Given the description of an element on the screen output the (x, y) to click on. 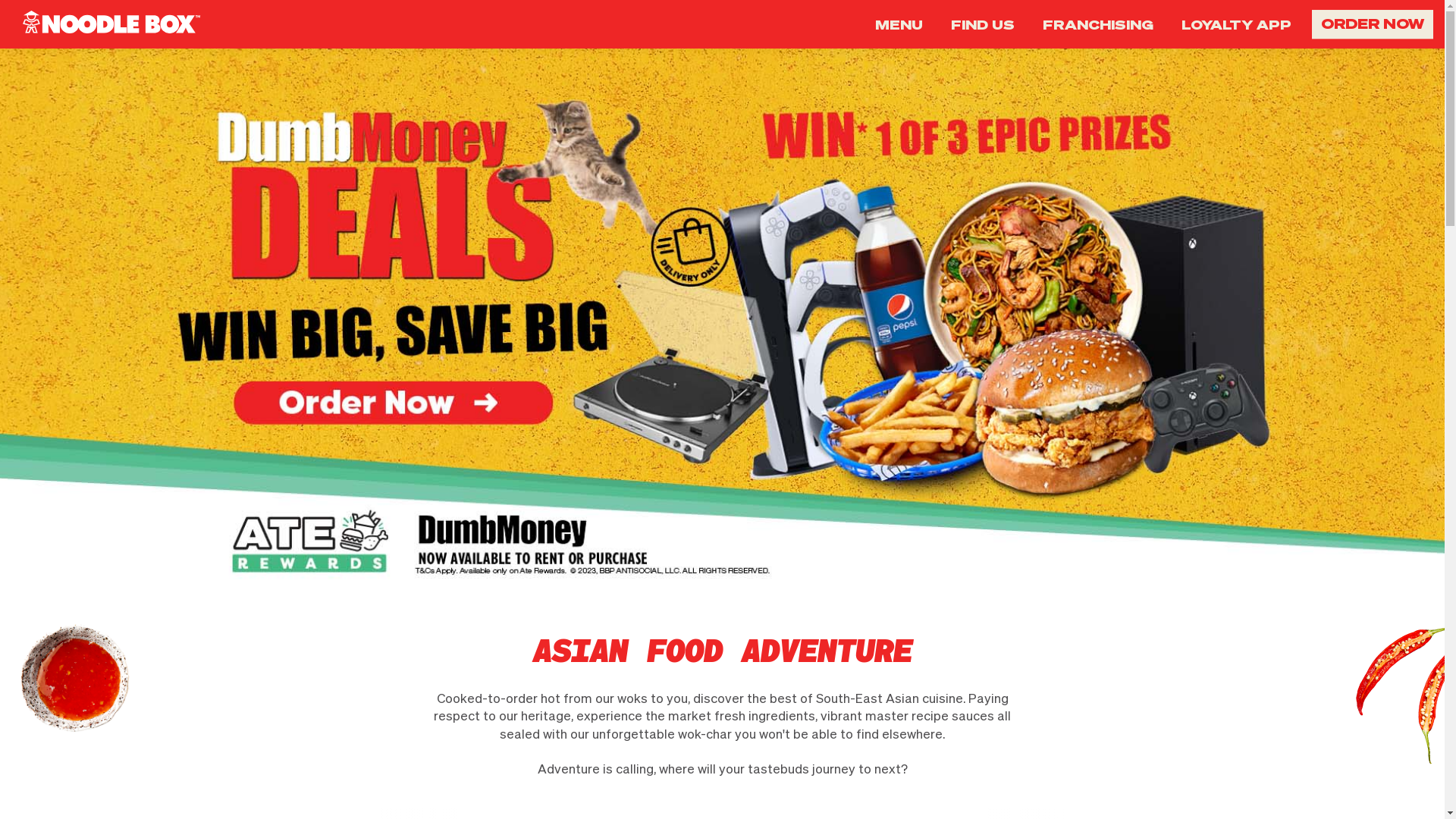
FRANCHISING Element type: text (1098, 24)
FIND US Element type: text (982, 24)
MENU Element type: text (898, 24)
ORDER NOW Element type: text (1372, 23)
LOYALTY APP Element type: text (1236, 24)
